Given the description of an element on the screen output the (x, y) to click on. 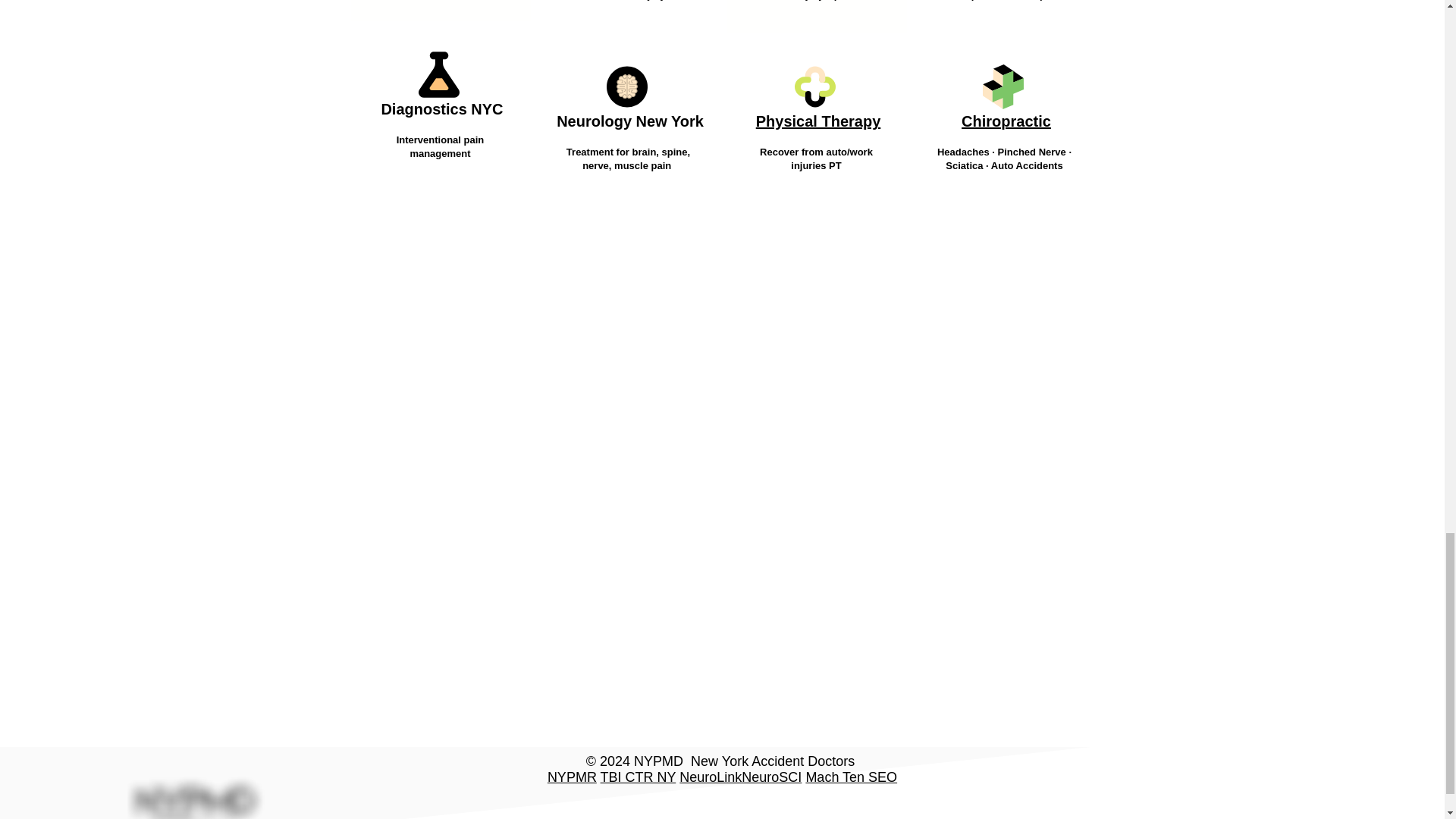
NYPMR (571, 776)
TBI CTR NY (638, 776)
Chiropractic (1005, 121)
Diagnostics NYC (441, 108)
New York Accident Doctors NYPMD (194, 789)
Physical Therapy (817, 121)
Neurology New York (629, 121)
New York Accident Doctors (772, 761)
